Given the description of an element on the screen output the (x, y) to click on. 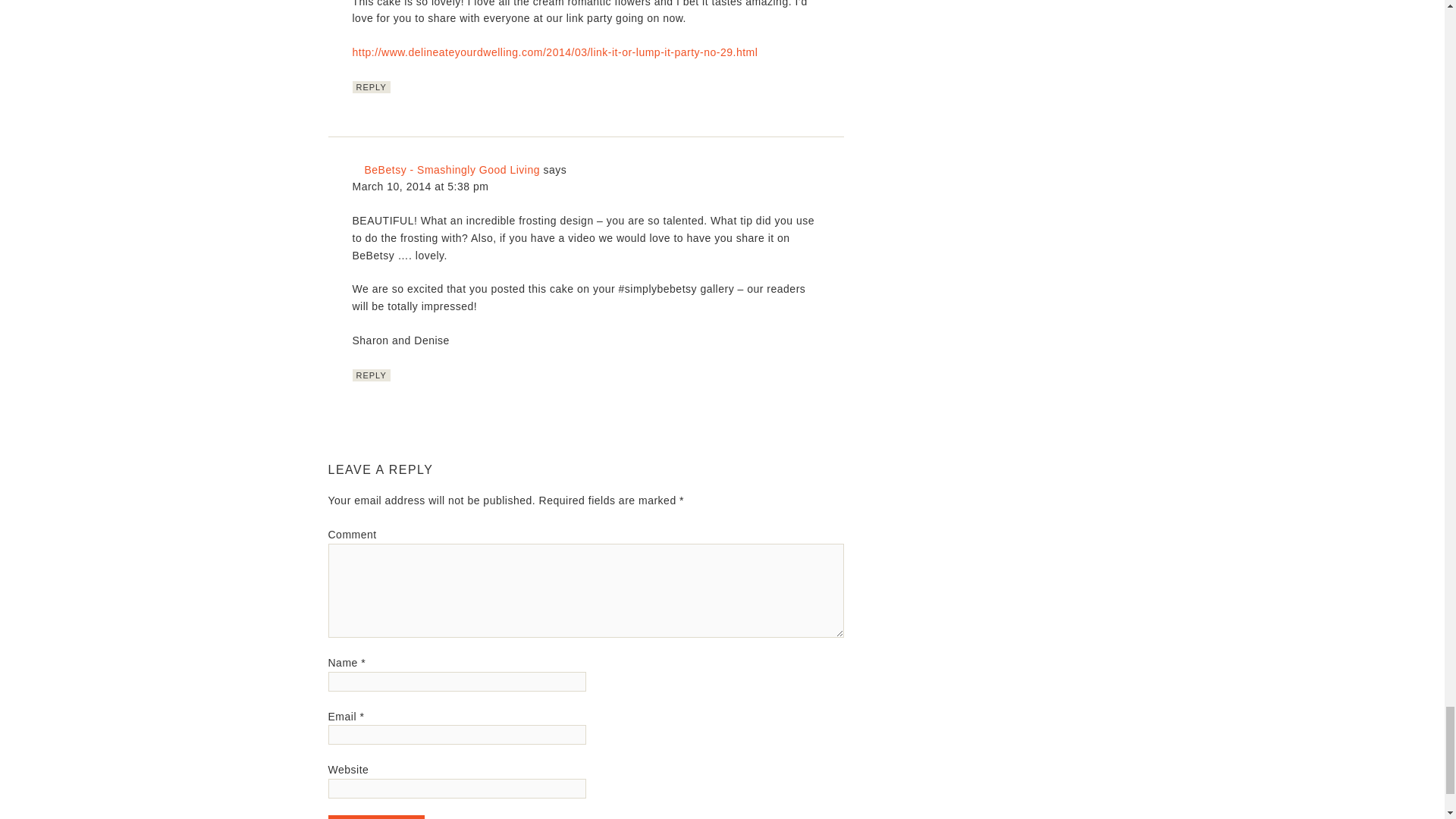
March 10, 2014 at 5:38 pm (419, 186)
REPLY (371, 375)
Post Comment (376, 816)
REPLY (371, 87)
BeBetsy - Smashingly Good Living (452, 169)
Post Comment (376, 816)
